Given the description of an element on the screen output the (x, y) to click on. 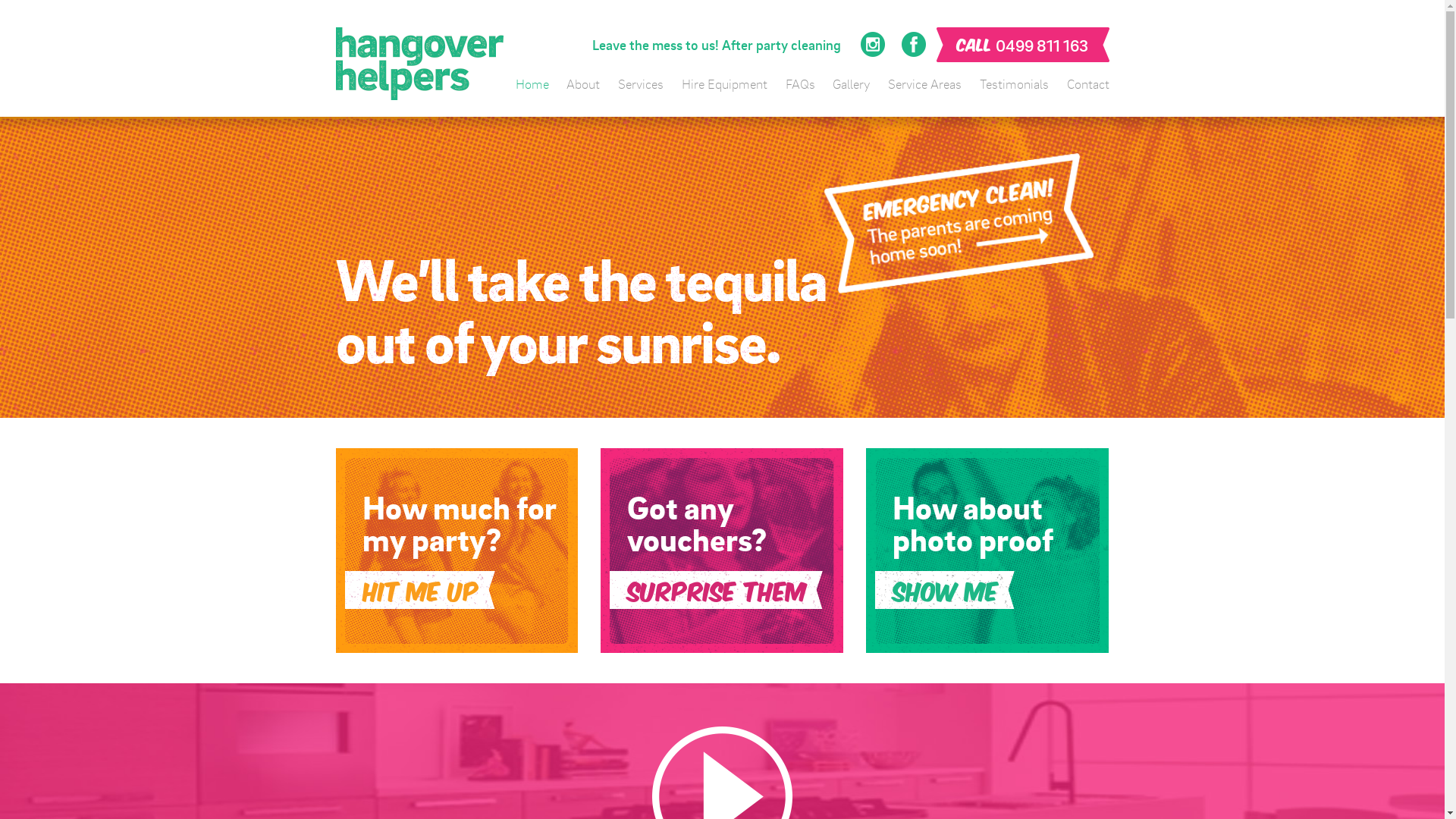
Hire Equipment Element type: text (724, 83)
FAQs Element type: text (800, 83)
0499 811 163 Element type: text (1041, 44)
SURPRISE THEM Element type: text (716, 589)
HANGOVER HELPERS Element type: text (418, 63)
Gallery Element type: text (850, 83)
HIT ME UP Element type: text (419, 589)
SHOW ME Element type: text (945, 589)
Service Areas Element type: text (924, 83)
Testimonials Element type: text (1013, 83)
Home Element type: text (532, 83)
Services Element type: text (640, 83)
Contact Element type: text (1087, 83)
About Element type: text (582, 83)
